Given the description of an element on the screen output the (x, y) to click on. 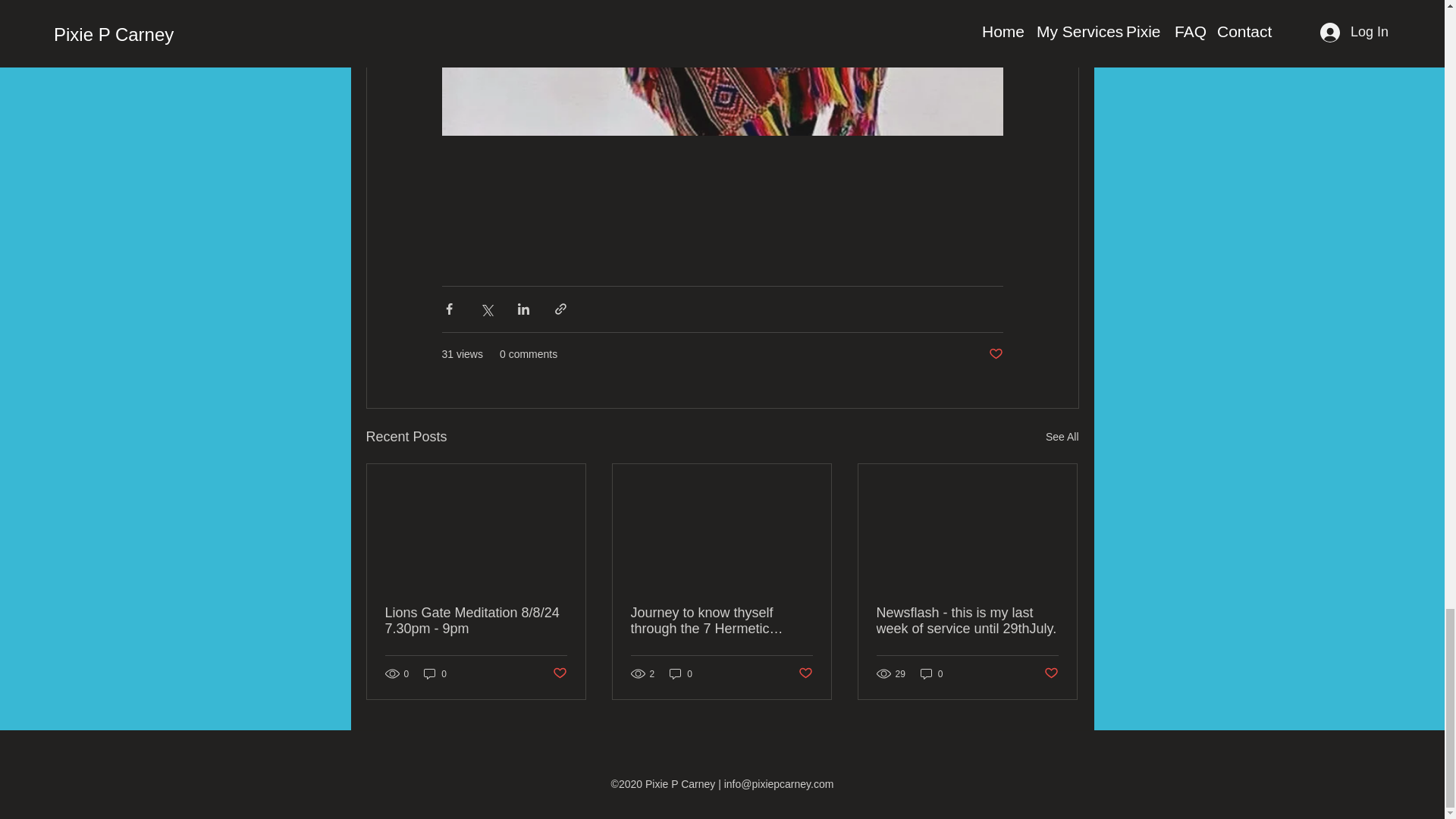
Post not marked as liked (995, 354)
Post not marked as liked (558, 673)
Post not marked as liked (1050, 673)
0 (435, 673)
0 (931, 673)
Newsflash - this is my last week of service until 29thJuly. (967, 621)
See All (1061, 436)
0 (681, 673)
Post not marked as liked (804, 673)
Journey to know thyself through the 7 Hermetic Principles (721, 621)
